Given the description of an element on the screen output the (x, y) to click on. 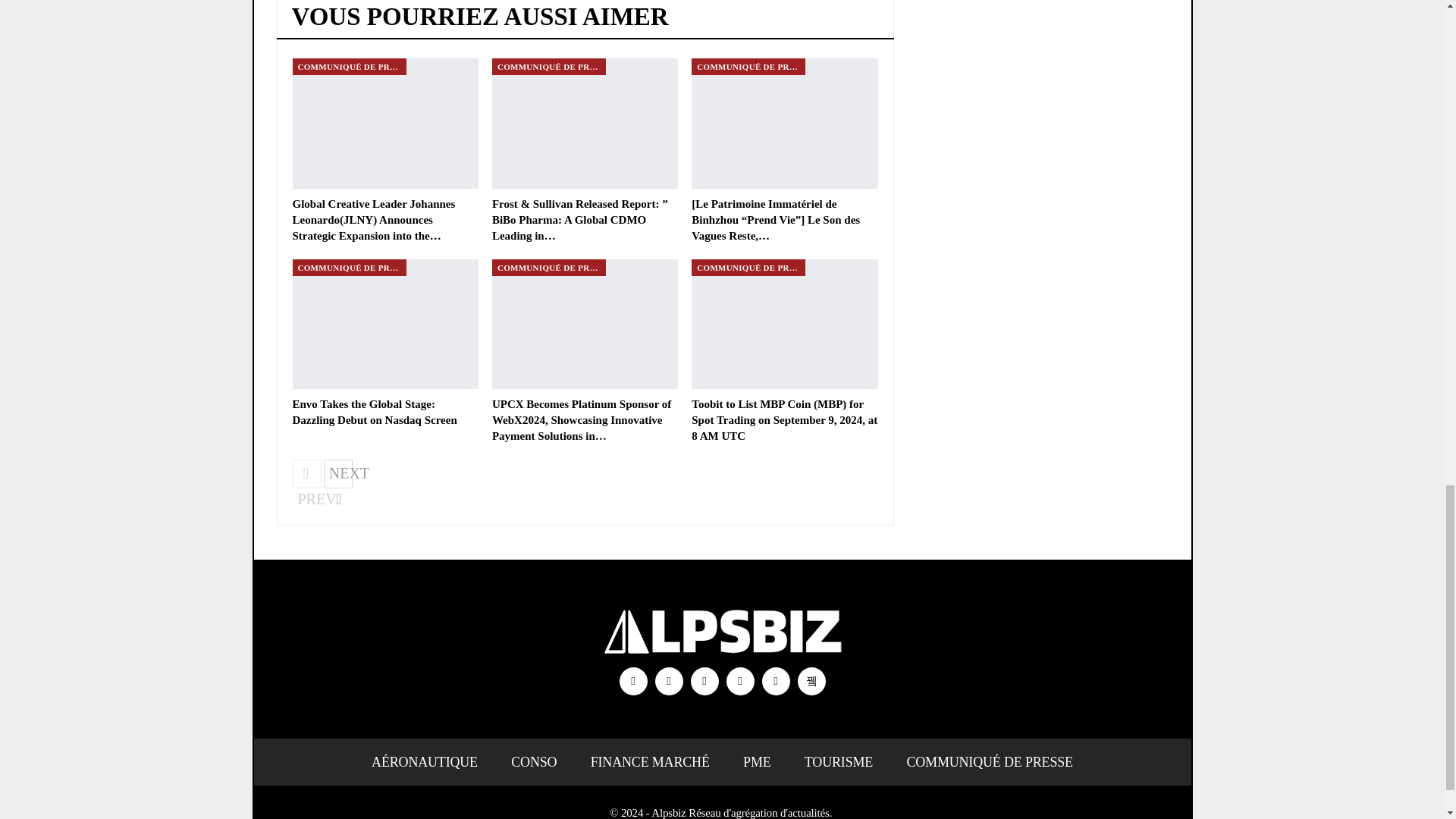
Envo Takes the Global Stage: Dazzling Debut on Nasdaq Screen (374, 411)
Envo Takes the Global Stage: Dazzling Debut on Nasdaq Screen (374, 411)
Envo Takes the Global Stage: Dazzling Debut on Nasdaq Screen (385, 324)
